Given the description of an element on the screen output the (x, y) to click on. 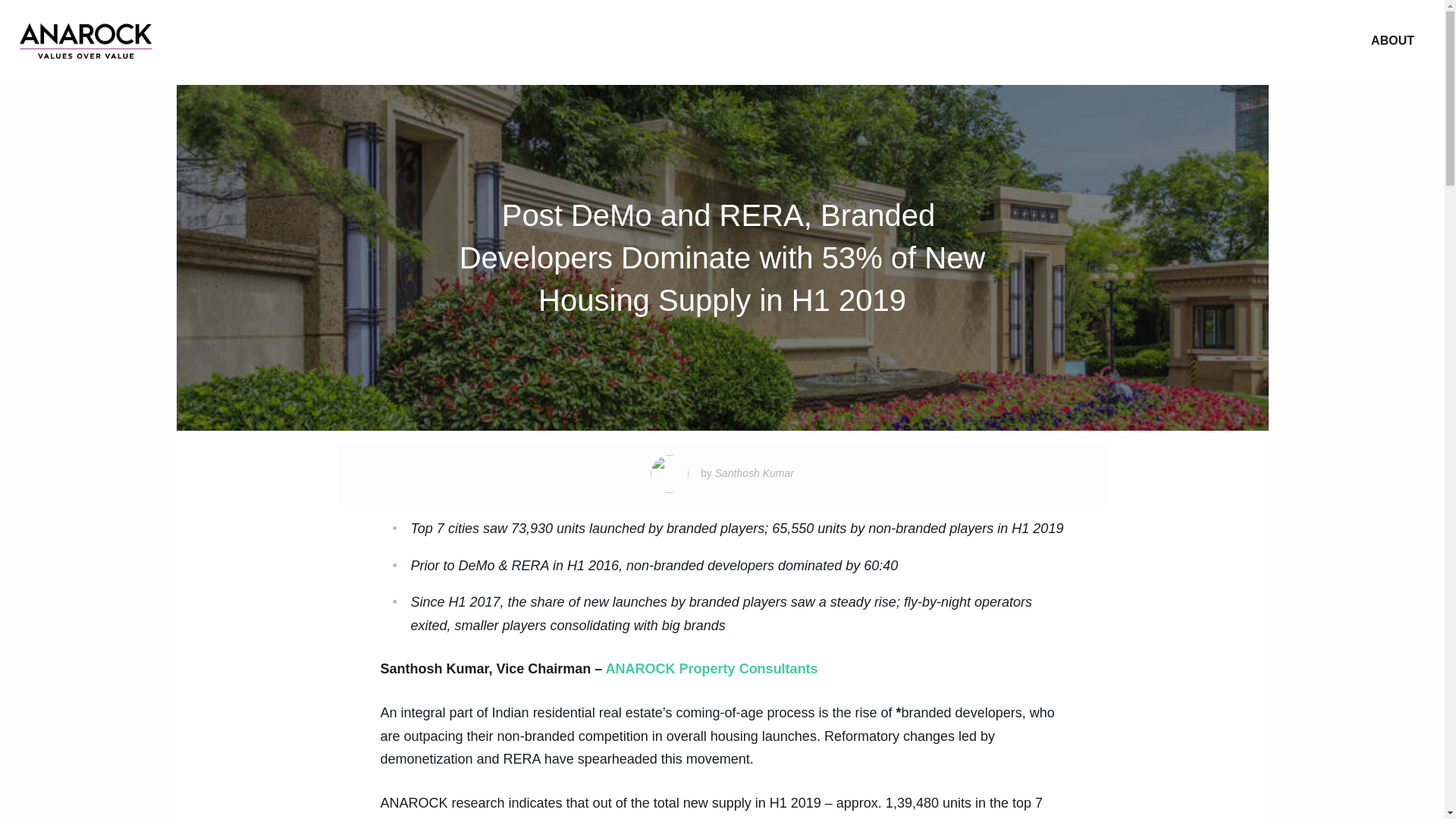
Santhosh Kumar (753, 472)
ABOUT (1392, 40)
ANAROCK Property Consultants (711, 668)
ANUJ PURI (85, 40)
